Given the description of an element on the screen output the (x, y) to click on. 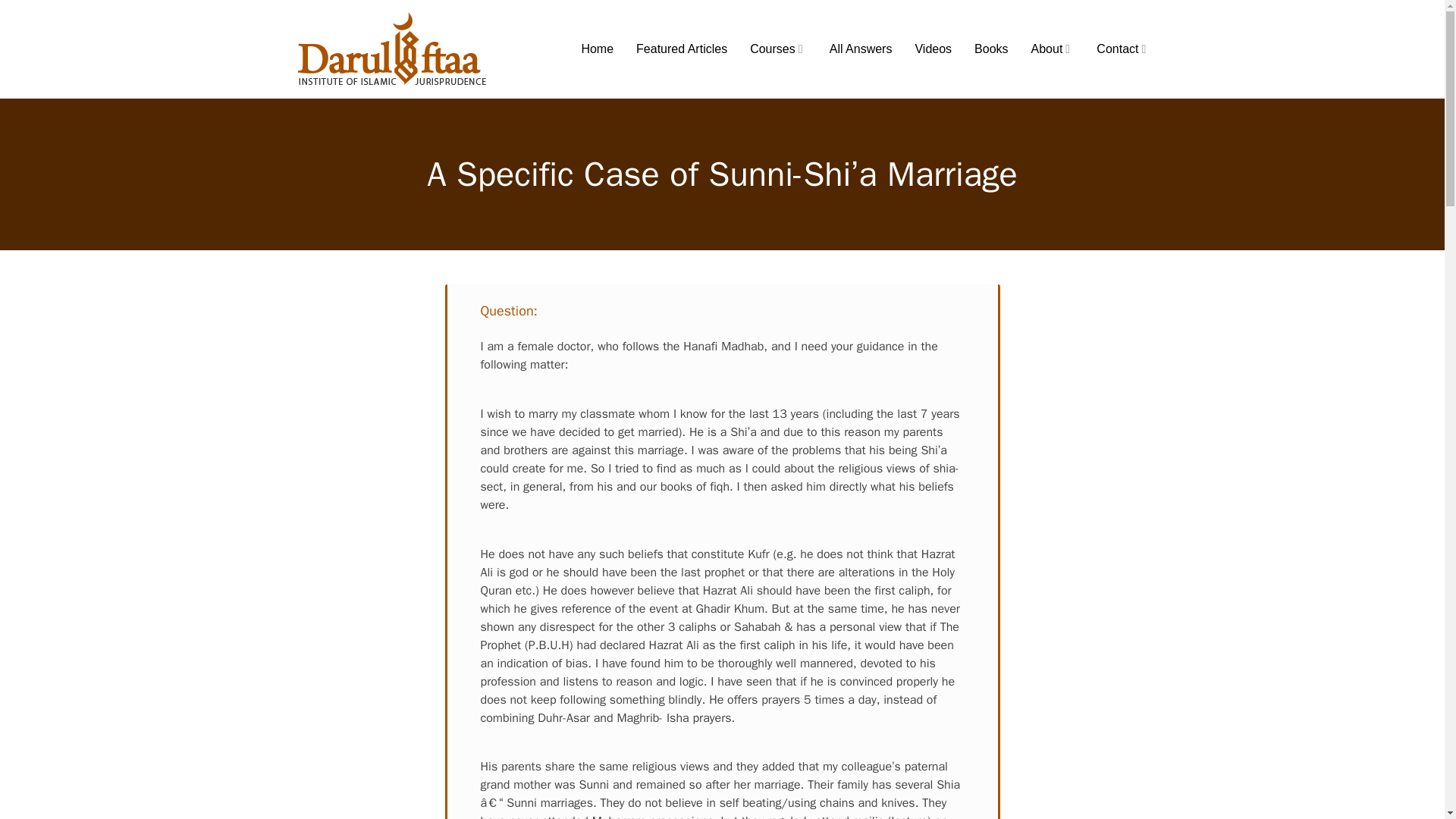
About (1052, 48)
All Answers (860, 48)
Videos (933, 48)
Courses (777, 48)
Contact (1123, 48)
Featured Articles (681, 48)
